Given the description of an element on the screen output the (x, y) to click on. 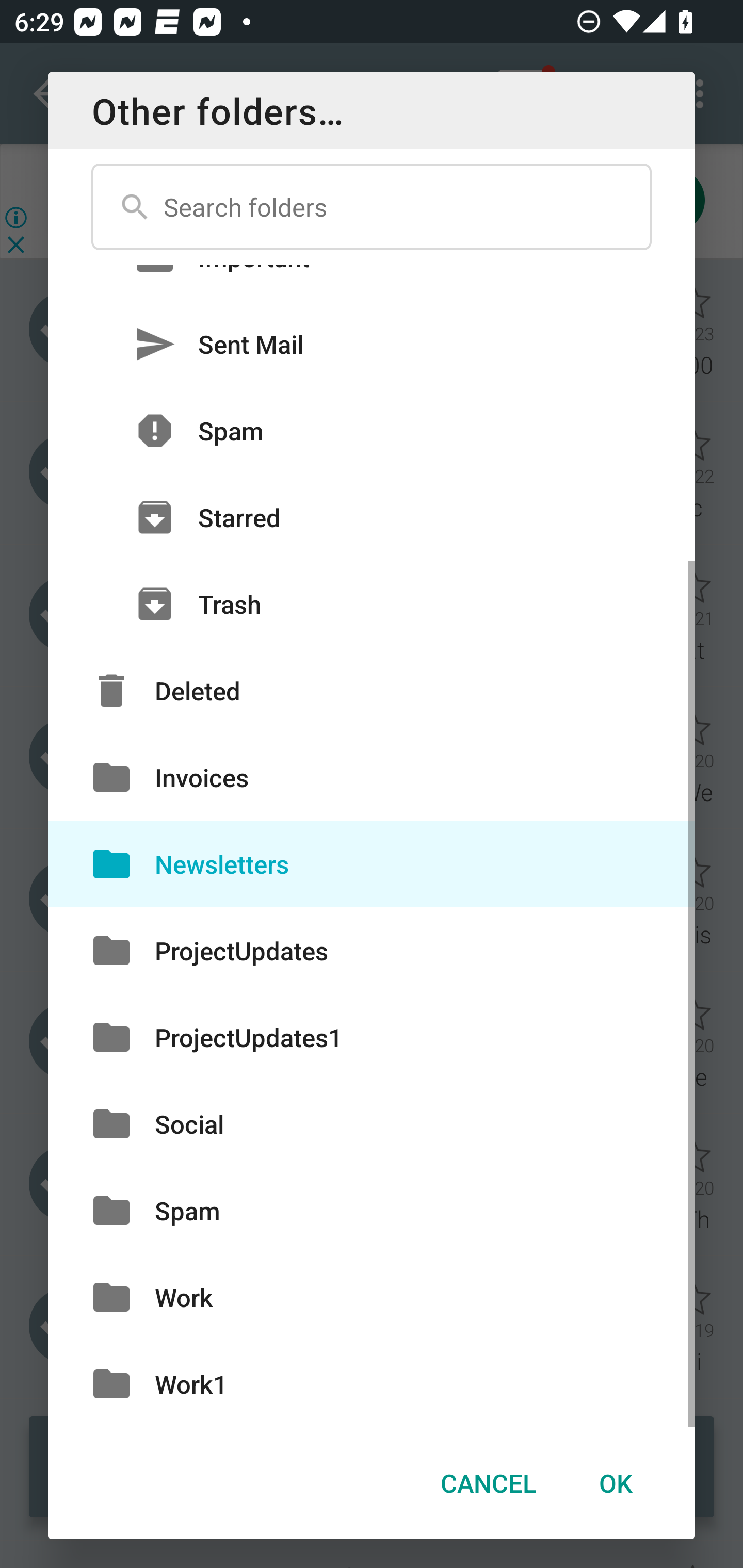
Sent Mail (371, 344)
Spam (371, 430)
Starred (371, 517)
Trash (371, 604)
Deleted (371, 690)
Invoices (371, 776)
Newsletters (371, 863)
ProjectUpdates (371, 950)
ProjectUpdates1 (371, 1037)
Social (371, 1123)
Spam (371, 1210)
Work (371, 1297)
Work1 (371, 1383)
CANCEL (488, 1482)
OK (615, 1482)
